Given the description of an element on the screen output the (x, y) to click on. 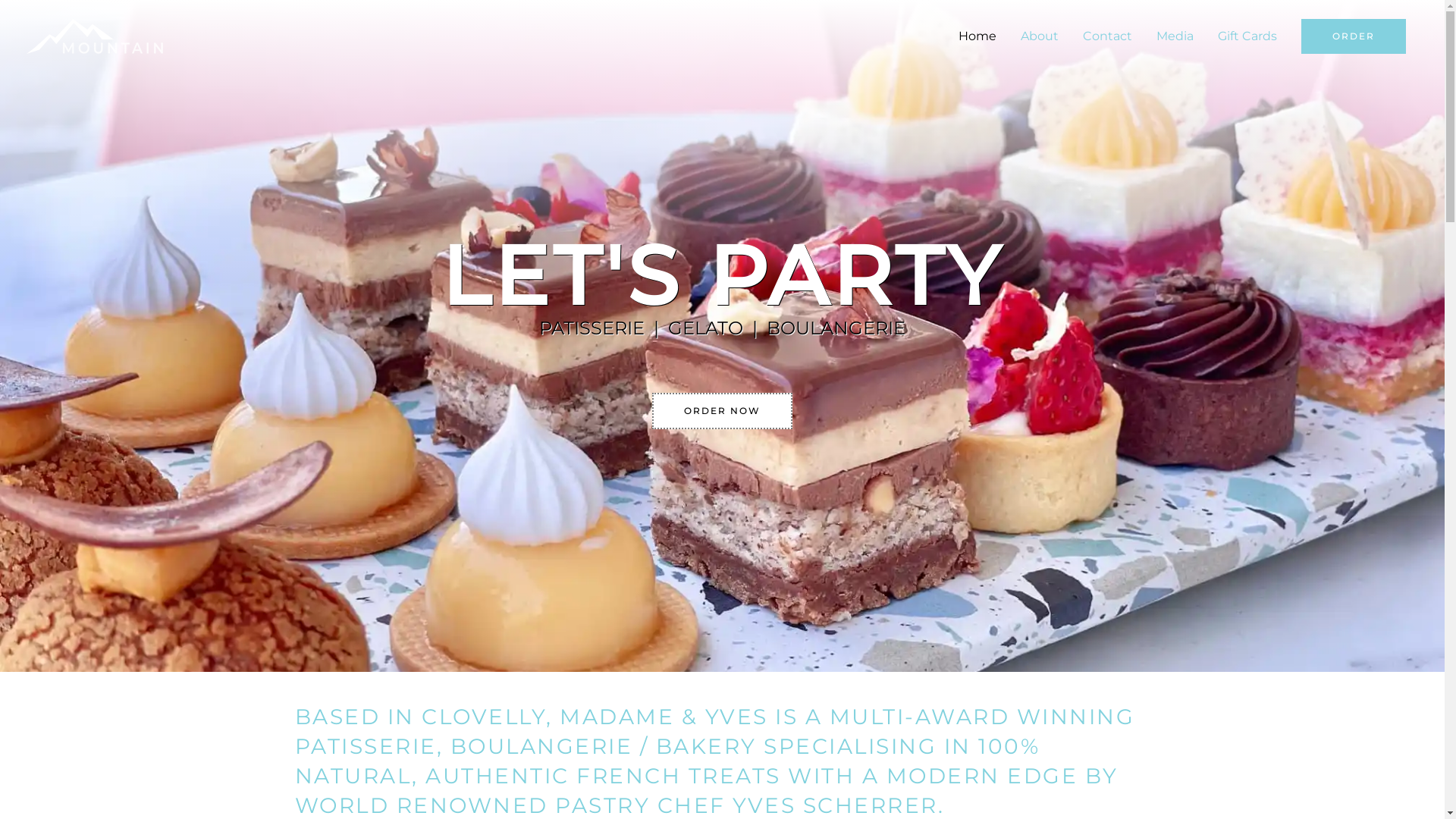
Home Element type: text (977, 36)
ORDER Element type: text (1353, 35)
Media Element type: text (1174, 36)
ORDER NOW Element type: text (722, 410)
Gift Cards Element type: text (1247, 36)
About Element type: text (1039, 36)
Contact Element type: text (1107, 36)
